Given the description of an element on the screen output the (x, y) to click on. 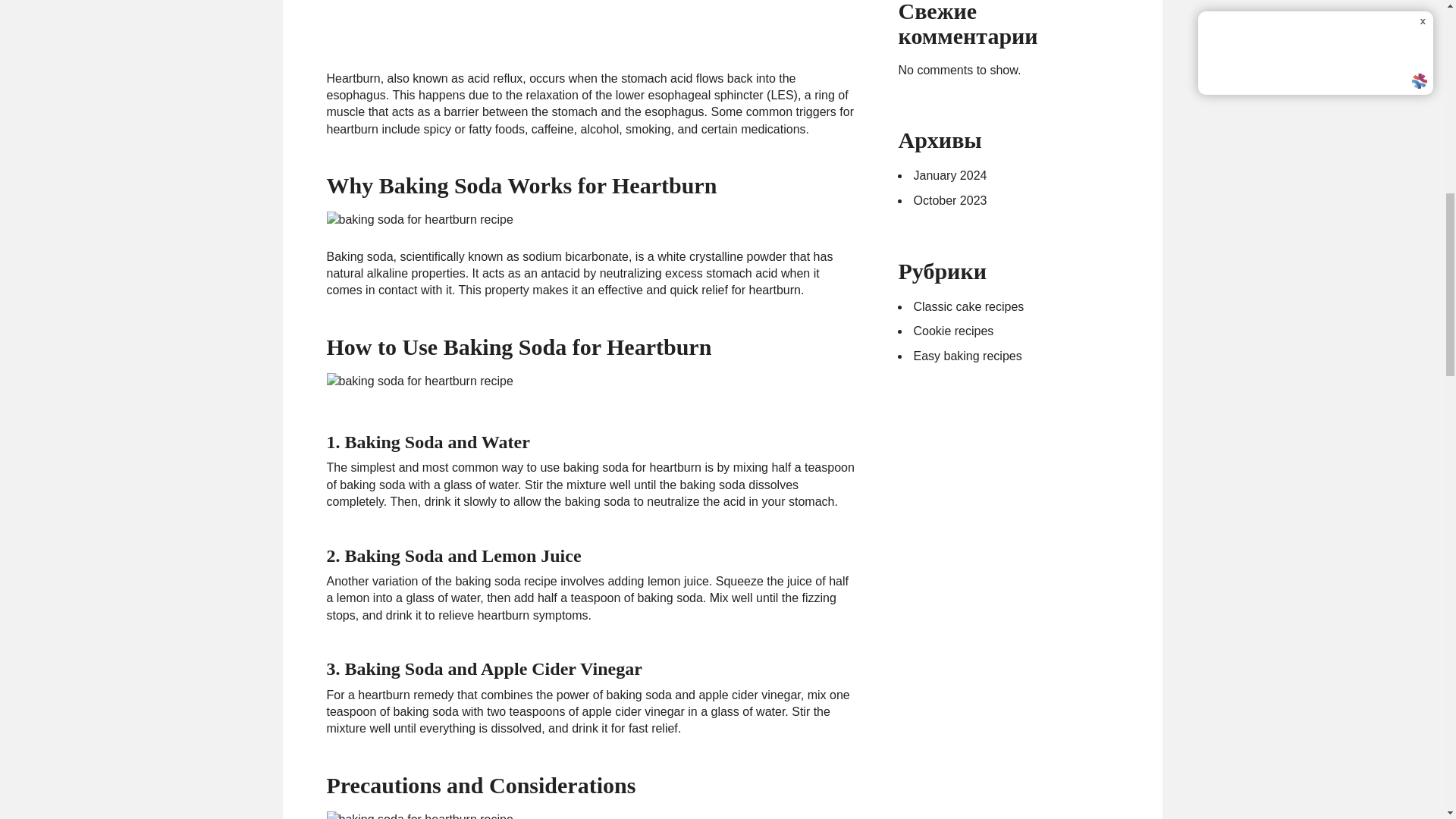
Easy baking recipes (967, 355)
January 2024 (949, 174)
October 2023 (949, 200)
baking soda for heartburn recipe (419, 815)
Classic cake recipes (967, 306)
baking soda for heartburn recipe (419, 219)
baking soda for heartburn recipe (419, 381)
Cookie recipes (952, 330)
